Given the description of an element on the screen output the (x, y) to click on. 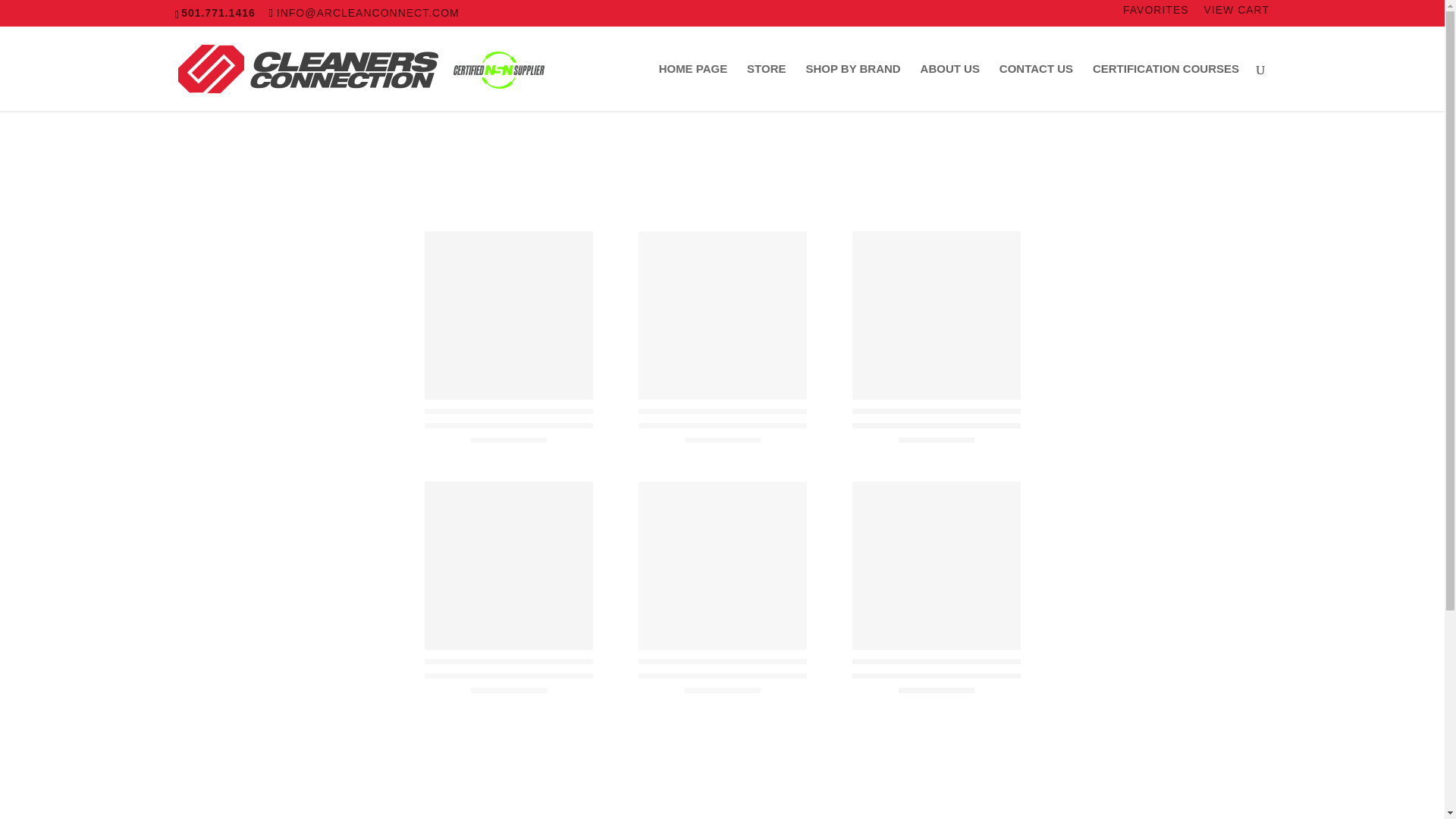
SHOP BY BRAND (852, 87)
VIEW CART (1236, 13)
CONTACT US (1035, 87)
HOME PAGE (693, 87)
FAVORITES (1155, 13)
ABOUT US (949, 87)
CERTIFICATION COURSES (1166, 87)
